Given the description of an element on the screen output the (x, y) to click on. 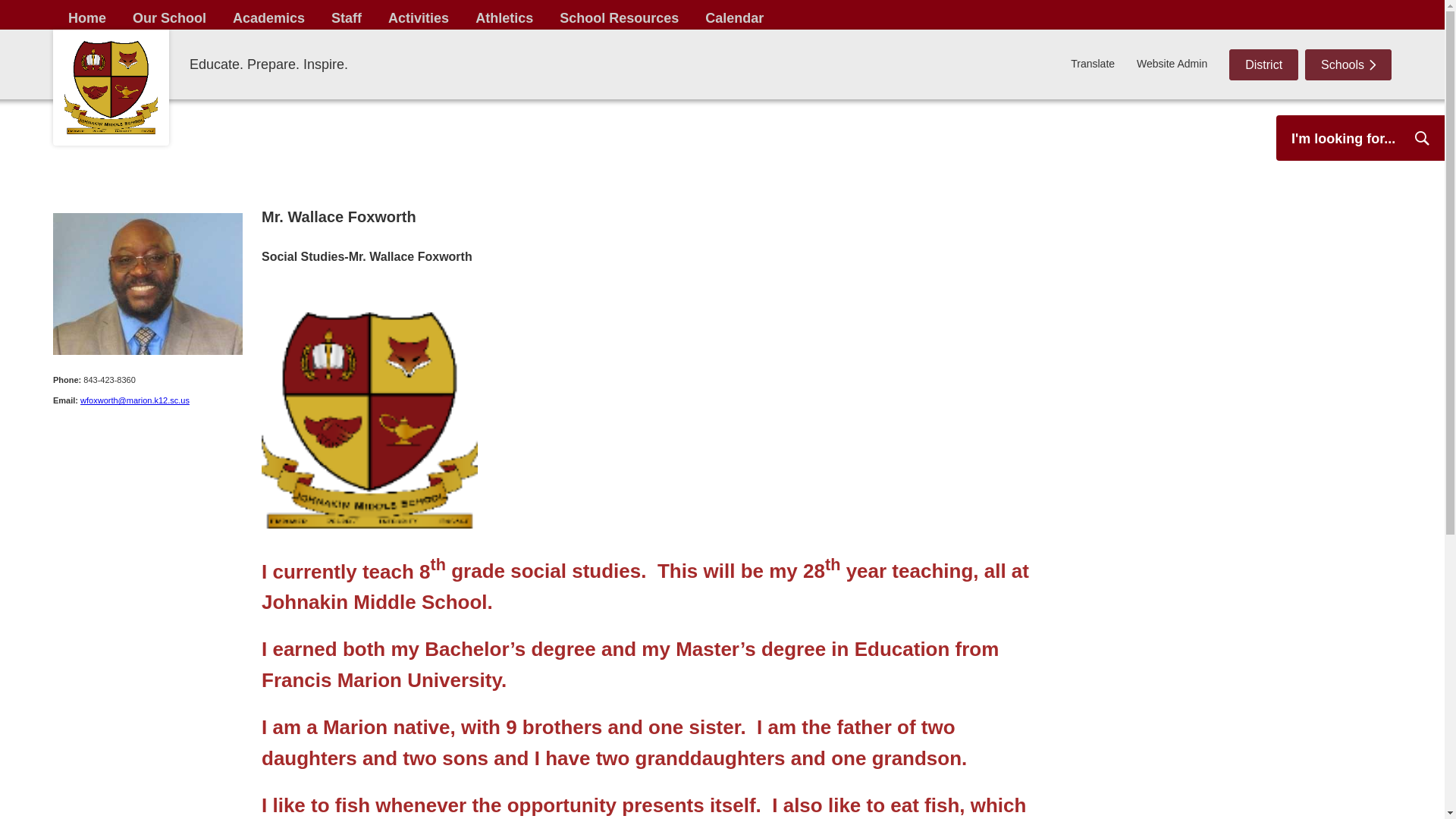
Activities (418, 14)
Academics (268, 14)
Our School (168, 14)
Home (86, 14)
Staff (346, 14)
School Resources (619, 14)
Athletics (504, 14)
